Given the description of an element on the screen output the (x, y) to click on. 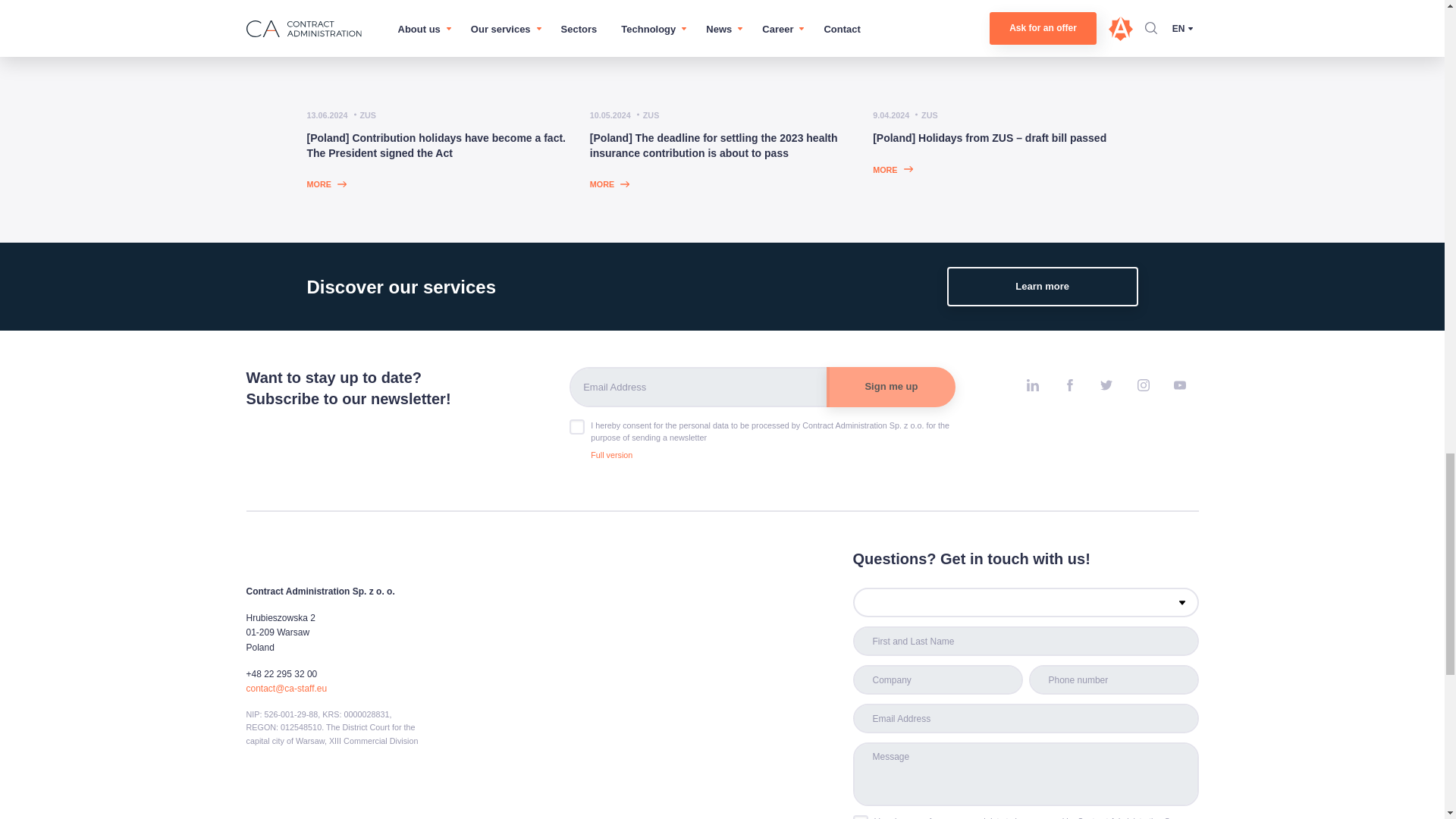
1 (577, 426)
1 (859, 816)
